Given the description of an element on the screen output the (x, y) to click on. 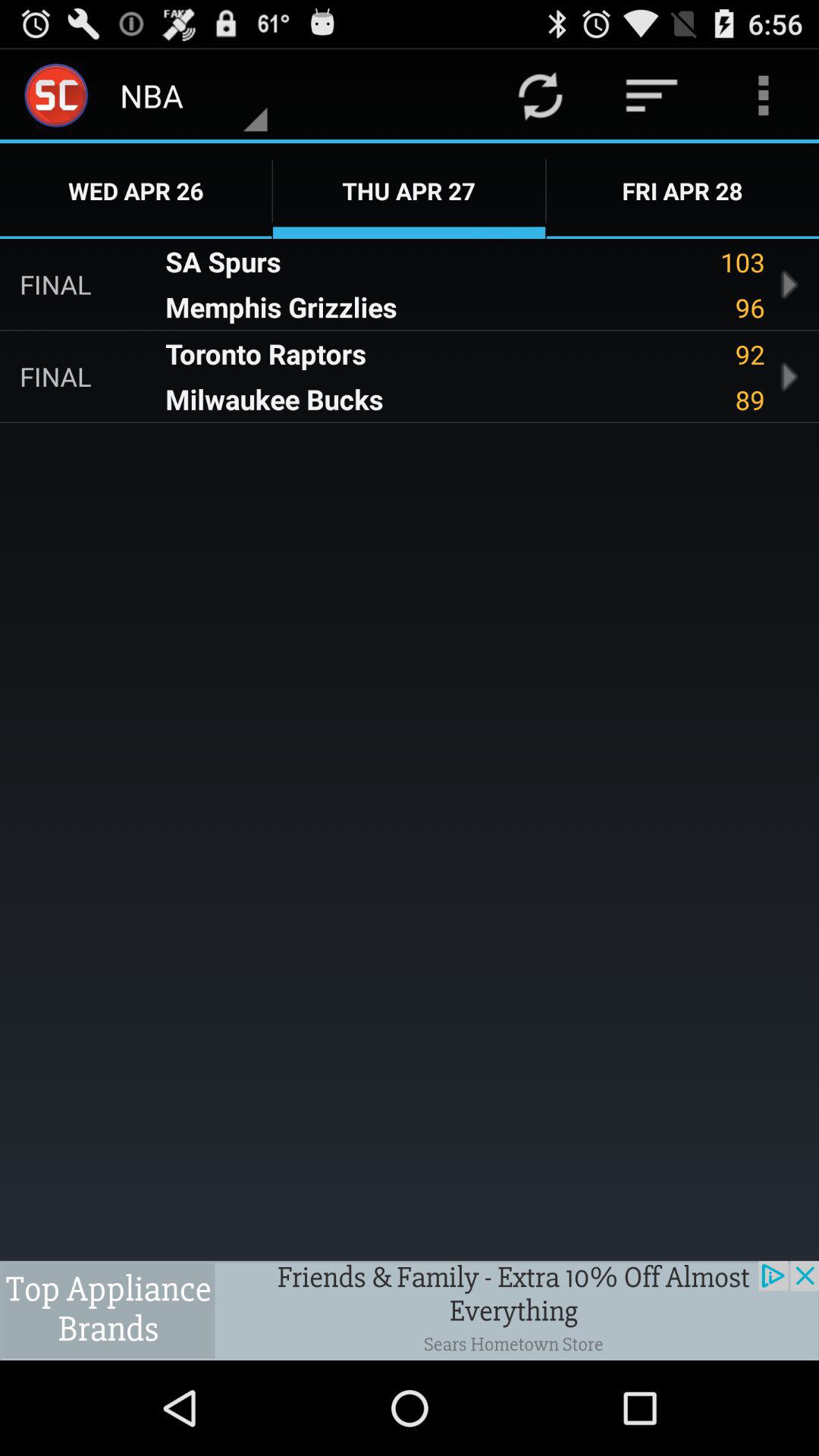
select advertisement (409, 1310)
